Given the description of an element on the screen output the (x, y) to click on. 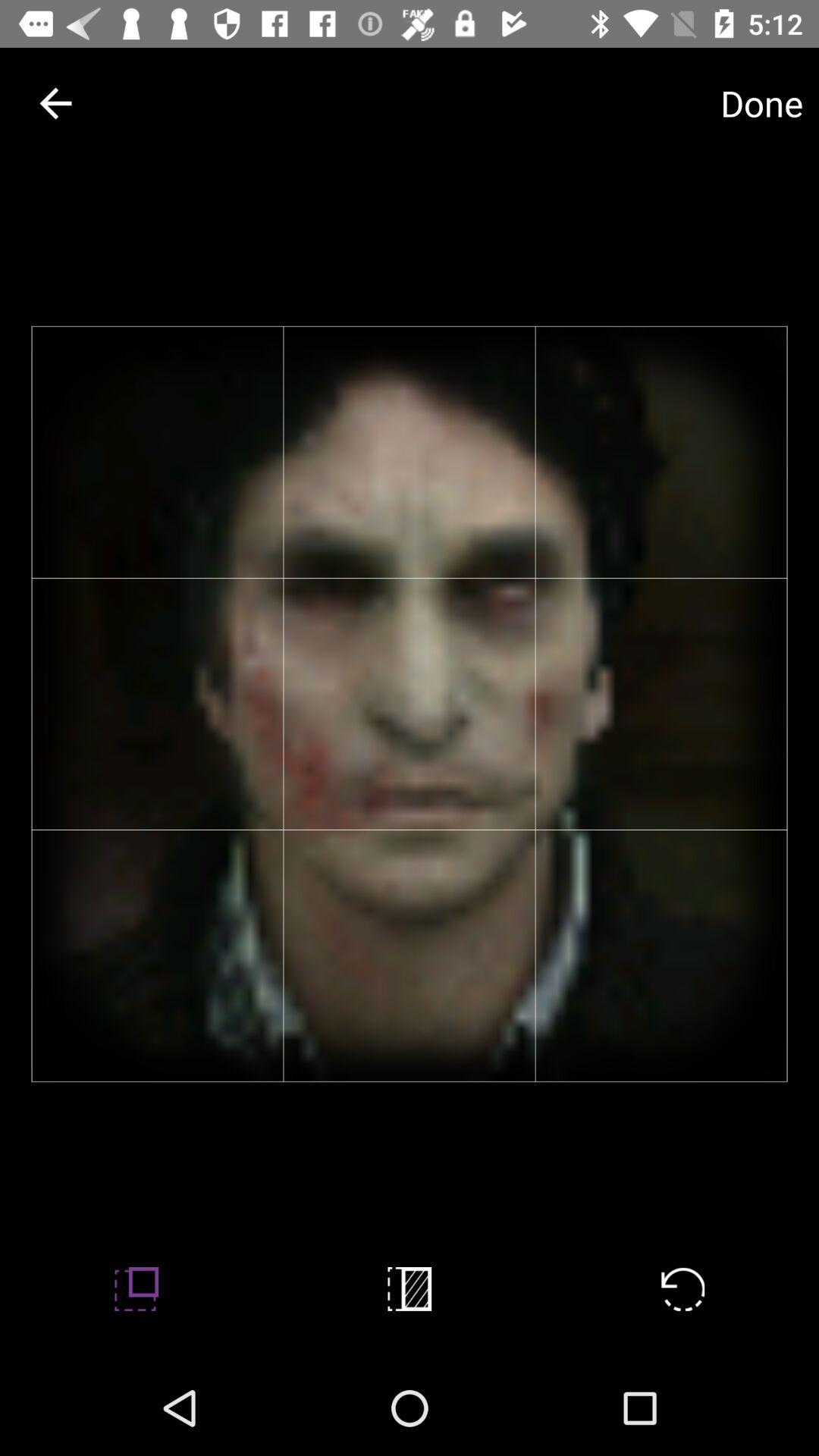
go back (55, 103)
